Given the description of an element on the screen output the (x, y) to click on. 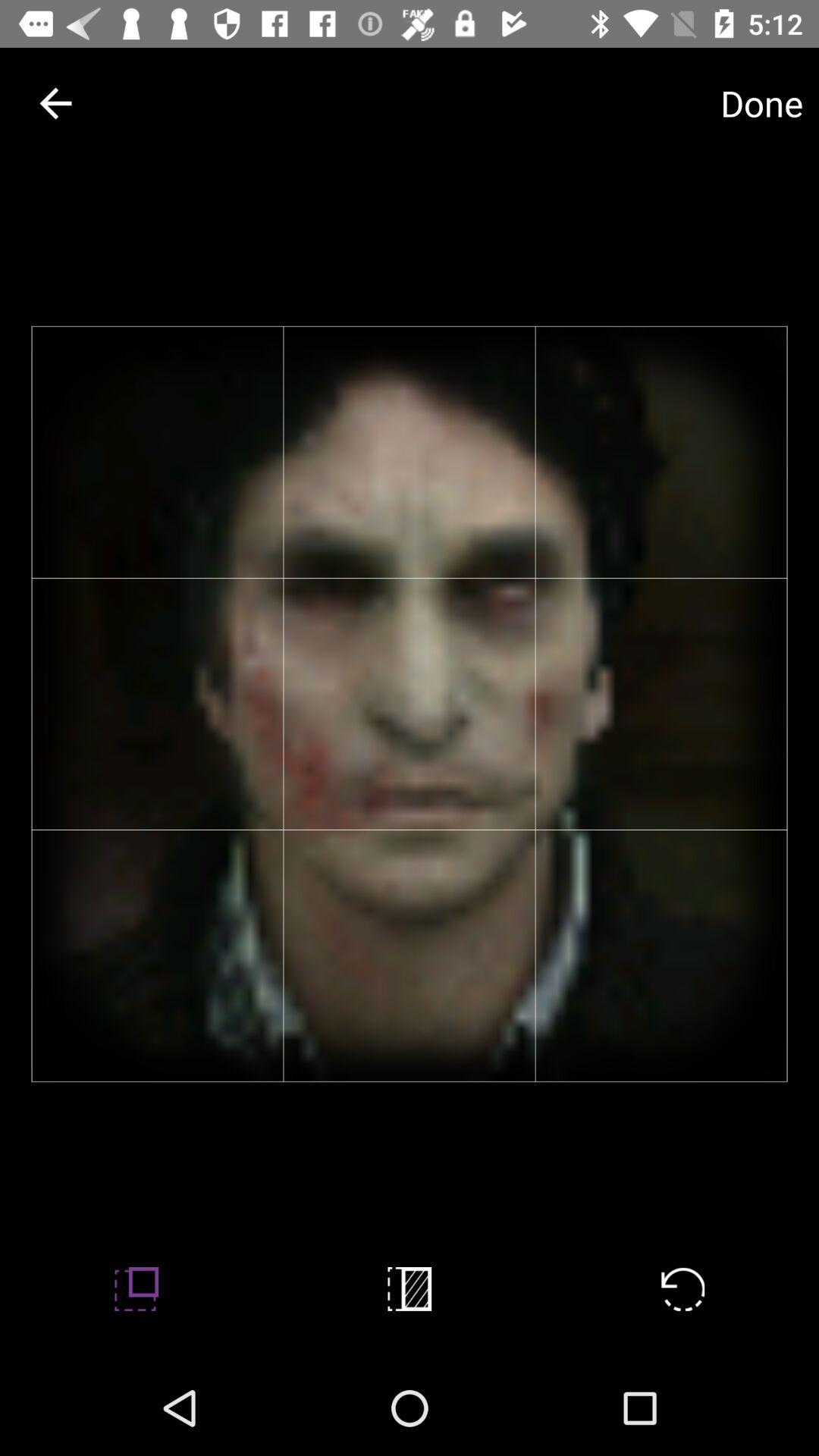
go back (55, 103)
